Given the description of an element on the screen output the (x, y) to click on. 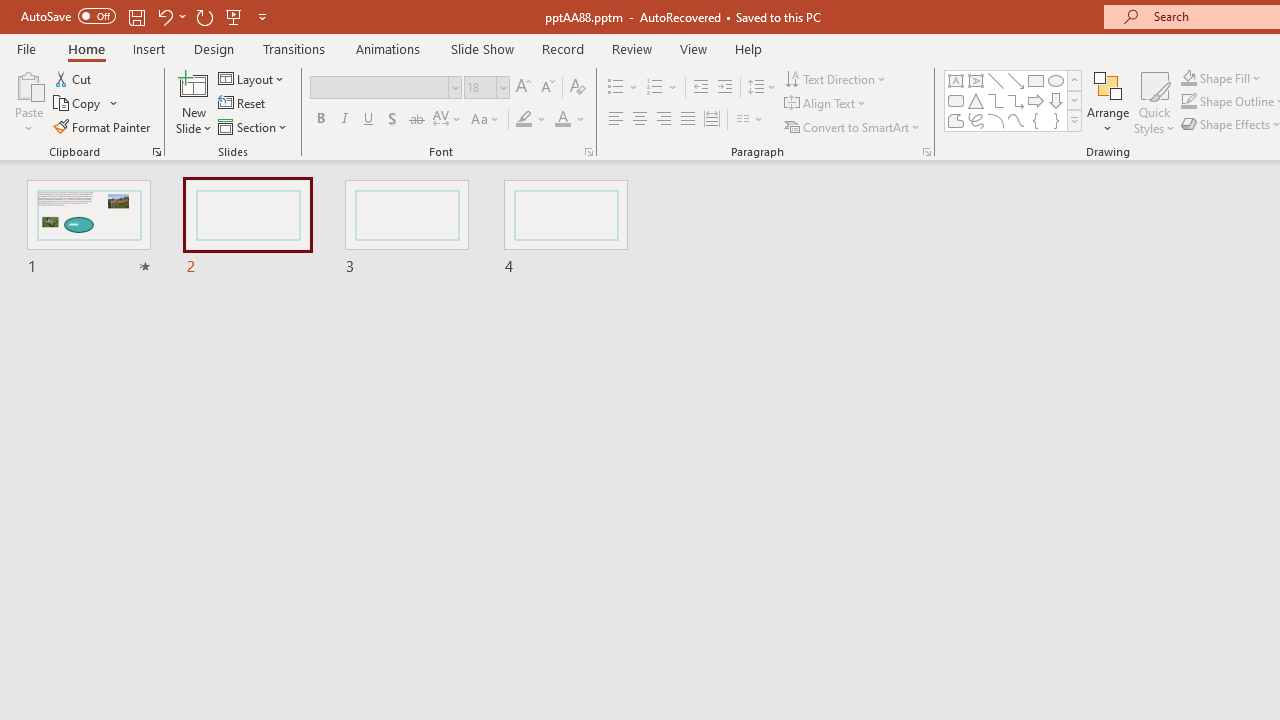
Shape Outline Teal, Accent 1 (1188, 101)
